Given the description of an element on the screen output the (x, y) to click on. 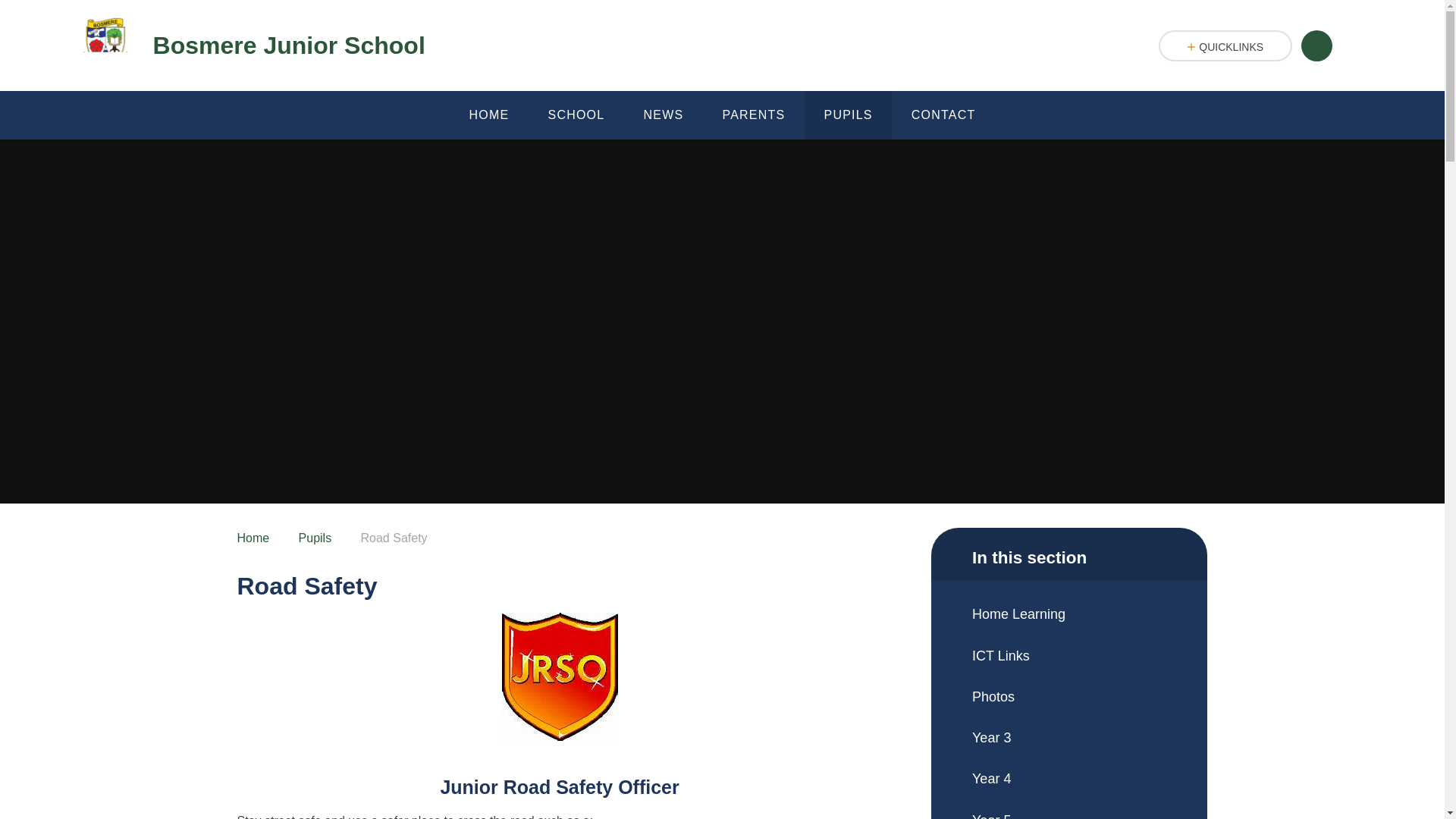
HOME (488, 114)
Bosmere Junior School (248, 45)
SCHOOL (576, 114)
